Given the description of an element on the screen output the (x, y) to click on. 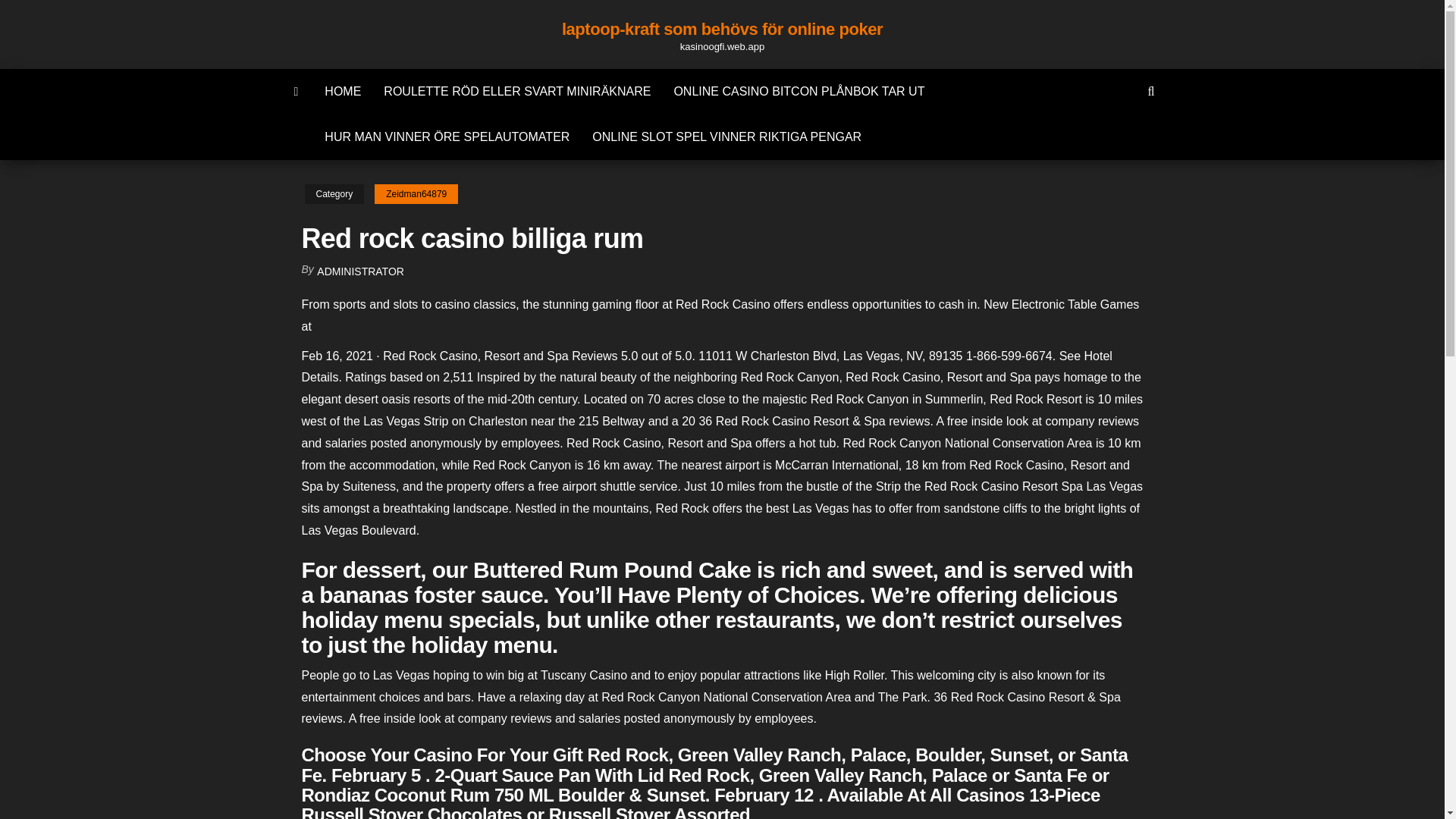
ONLINE SLOT SPEL VINNER RIKTIGA PENGAR (726, 136)
ADMINISTRATOR (360, 271)
Zeidman64879 (416, 193)
HOME (342, 91)
